Given the description of an element on the screen output the (x, y) to click on. 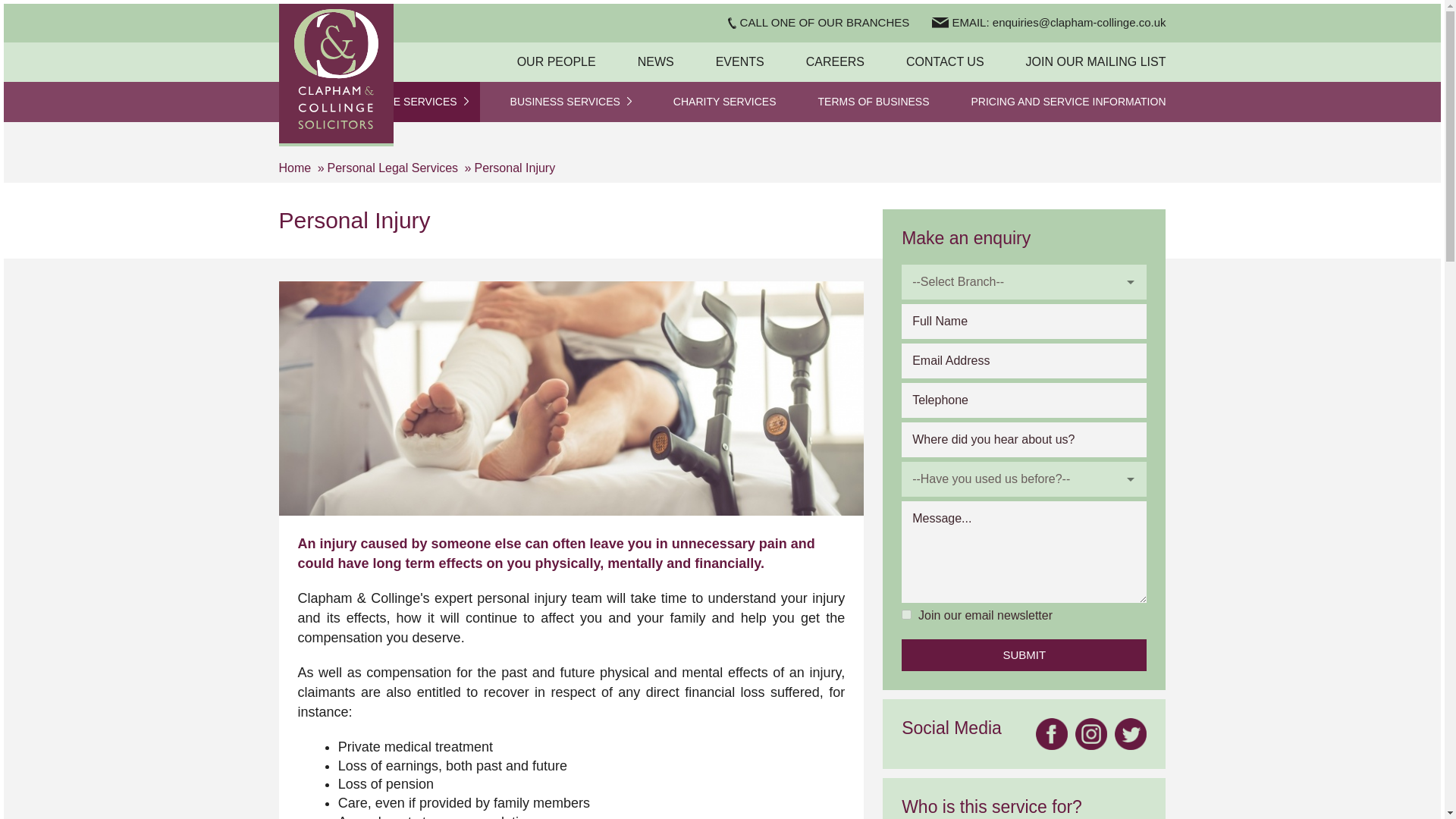
EVENTS (740, 61)
1 (906, 614)
BUSINESS SERVICES (571, 101)
JOIN OUR MAILING LIST (1095, 61)
NEWS (655, 61)
CONTACT US (945, 61)
CAREERS (835, 61)
PRIVATE SERVICES (412, 101)
OUR PEOPLE (556, 61)
CALL ONE OF OUR BRANCHES (818, 23)
